Given the description of an element on the screen output the (x, y) to click on. 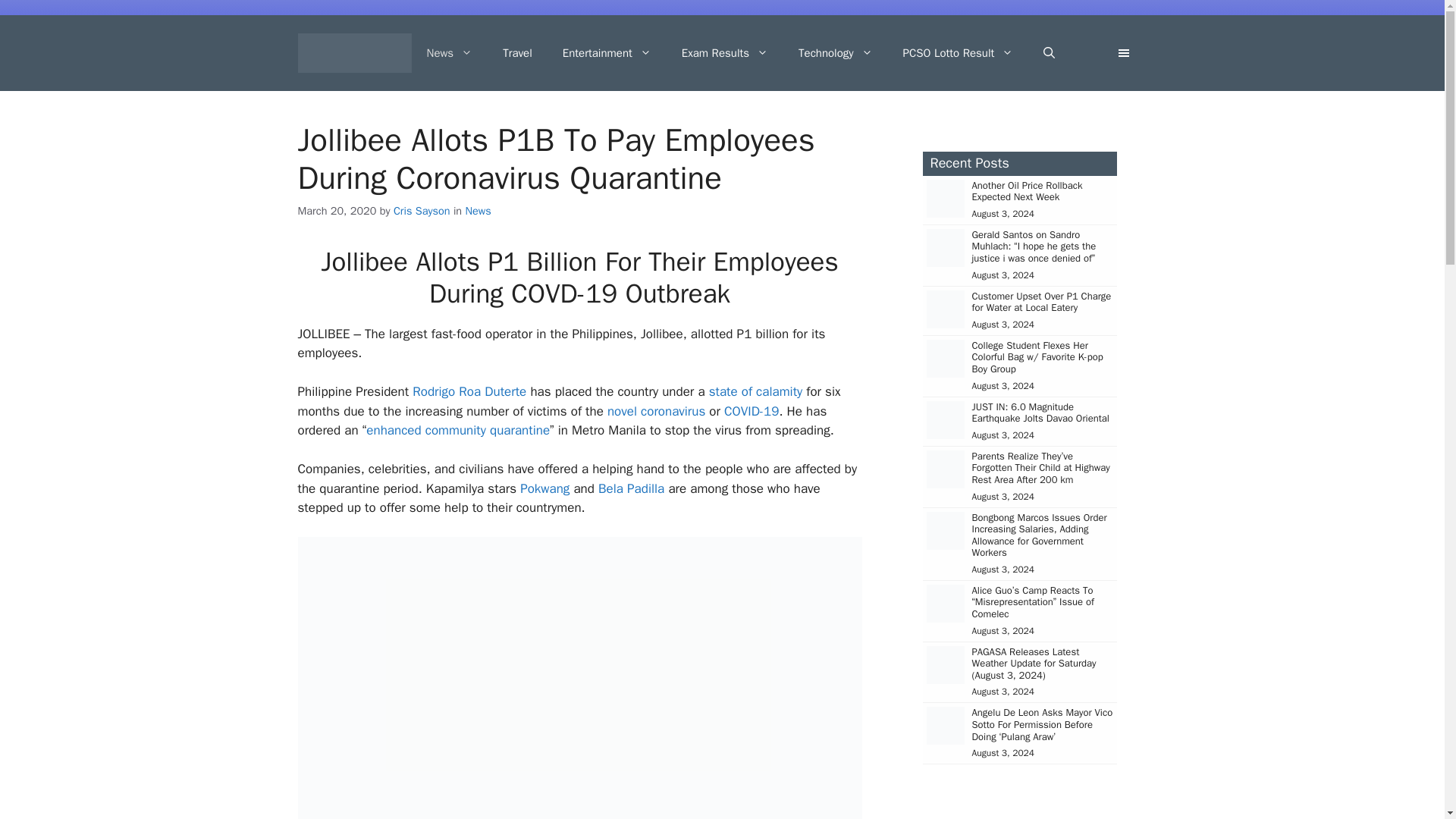
Exam Results (724, 53)
News (448, 53)
Entertainment (606, 53)
Travel (517, 53)
View all posts by Cris Sayson (421, 210)
